Given the description of an element on the screen output the (x, y) to click on. 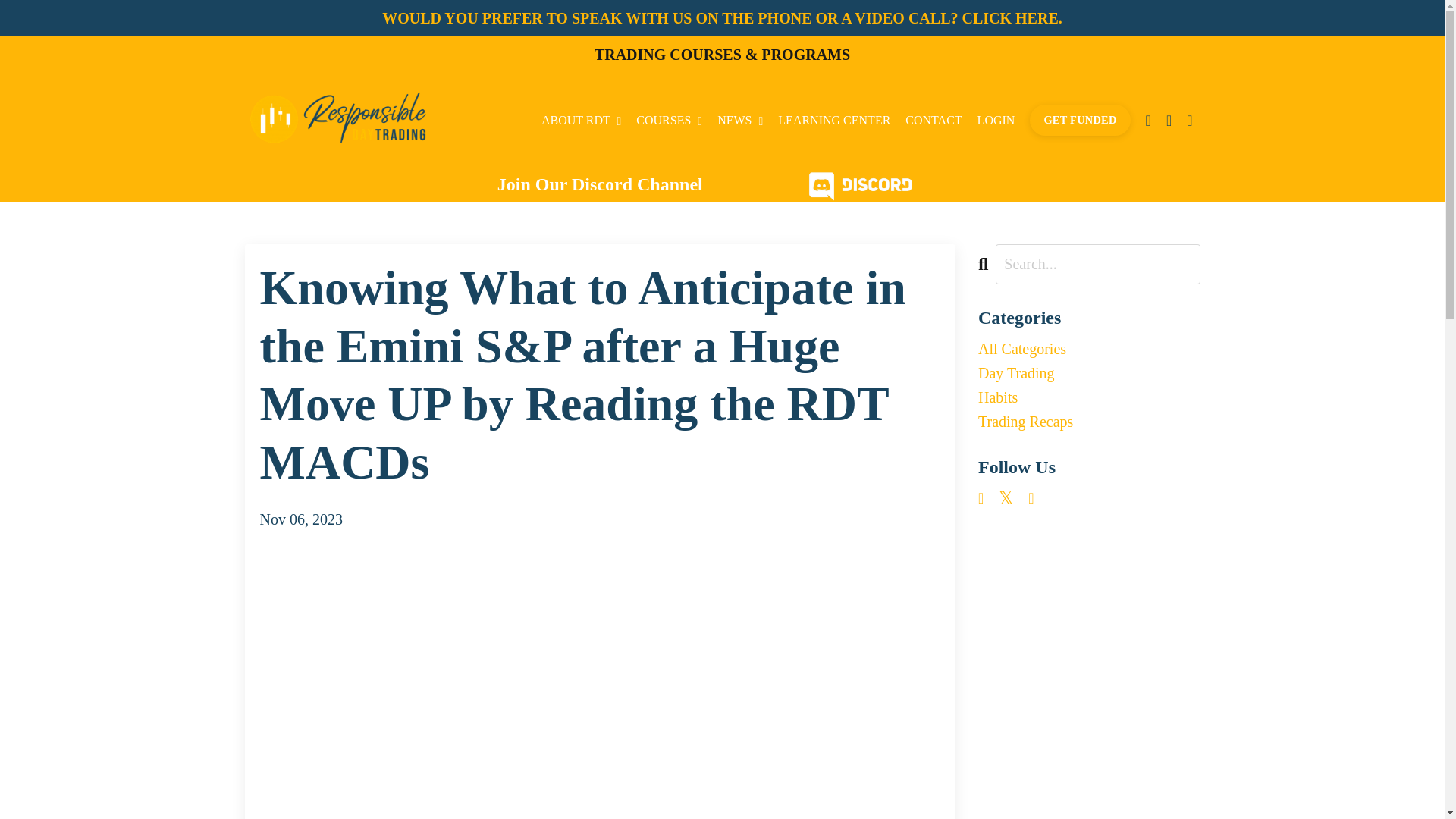
Day Trading (1088, 372)
Habits (1088, 396)
LEARNING CENTER (833, 120)
CONTACT (932, 120)
NEWS (739, 120)
COURSES (668, 120)
All Categories (1088, 348)
GET FUNDED (1079, 120)
Trading Recaps (1088, 421)
